Given the description of an element on the screen output the (x, y) to click on. 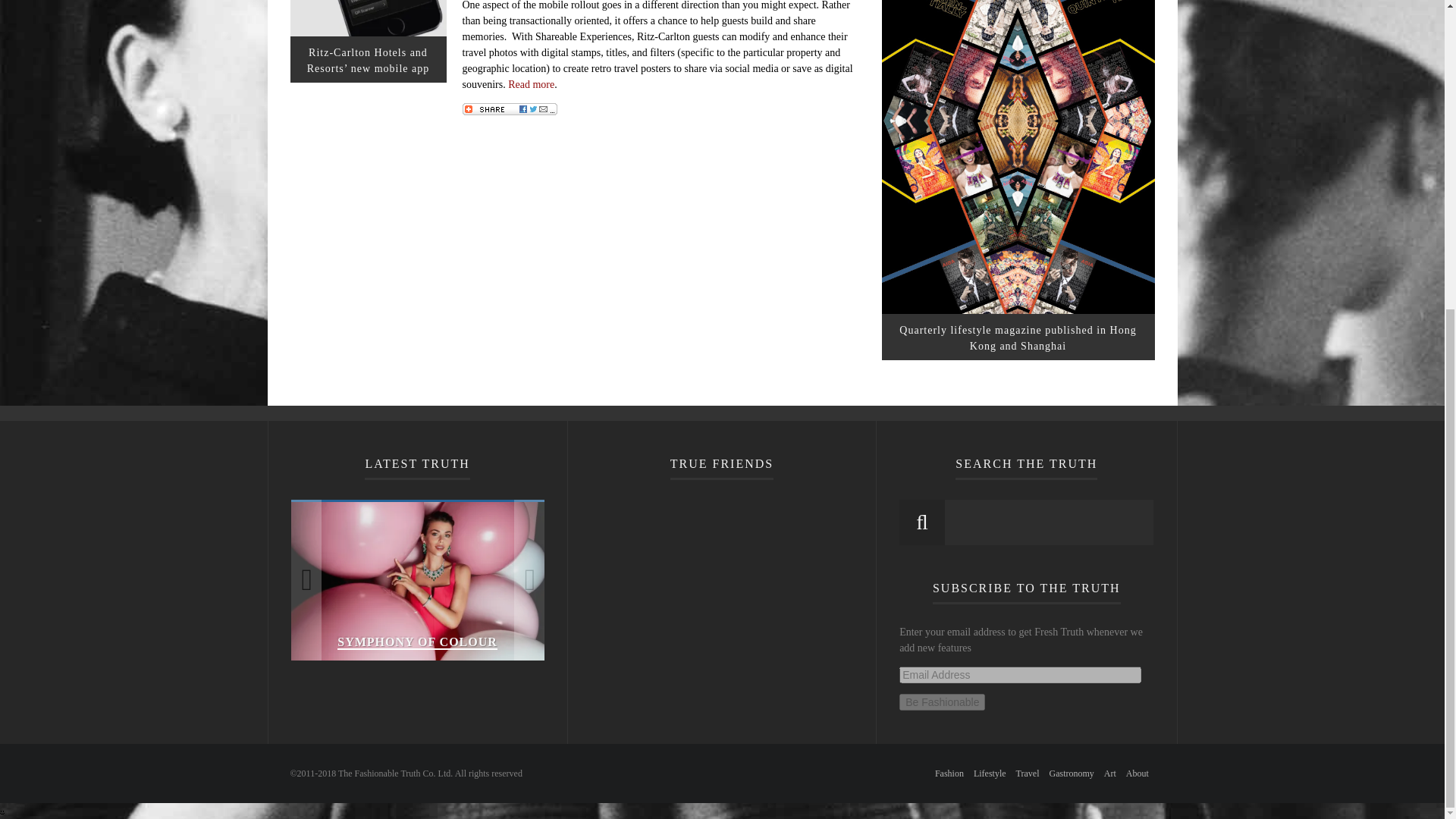
Be Fashionable (942, 701)
